Given the description of an element on the screen output the (x, y) to click on. 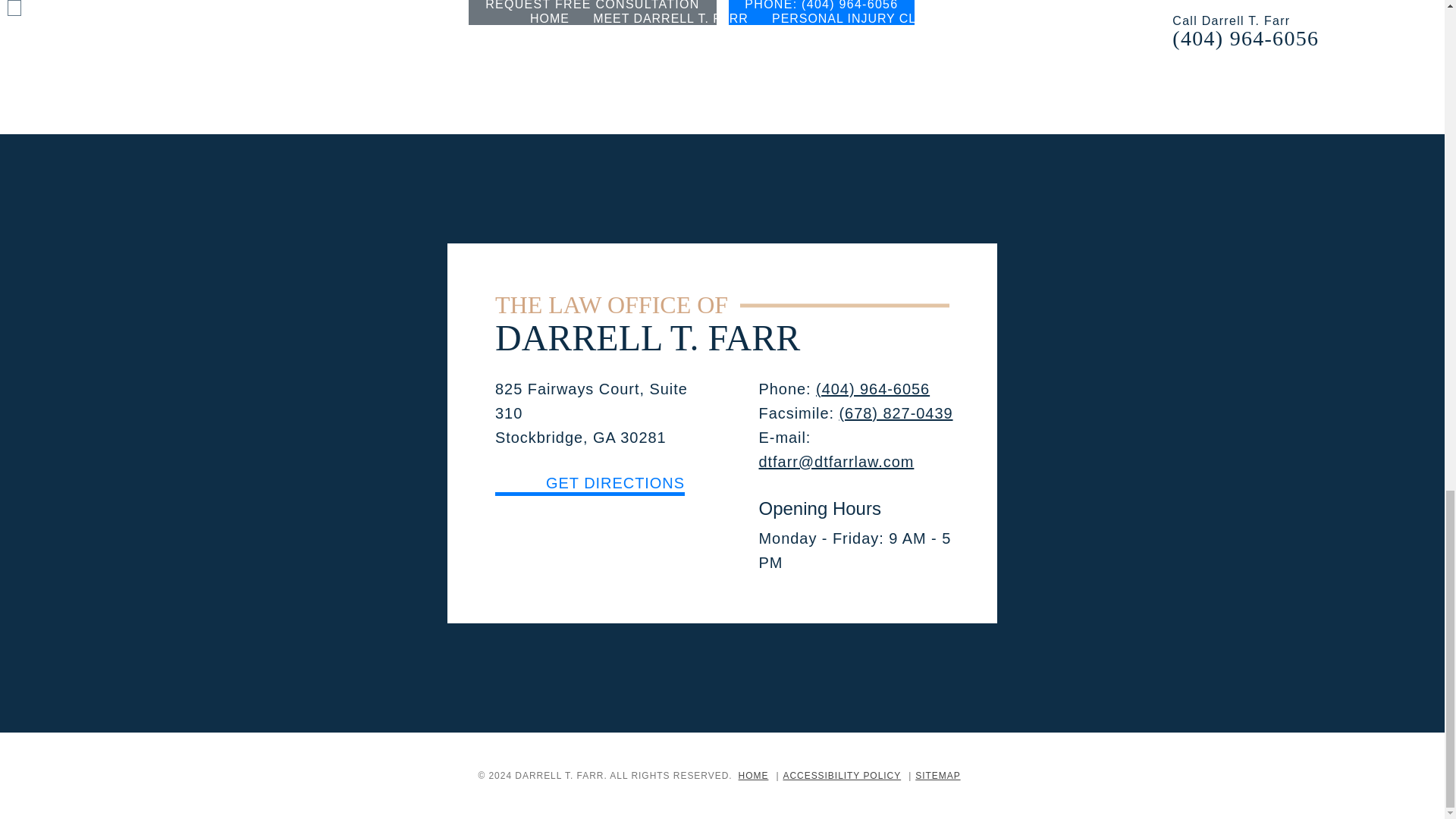
GET DIRECTIONS (589, 485)
REQUEST FREE CONSULTATION (592, 12)
HOME (753, 775)
ACCESSIBILITY POLICY (842, 775)
